Given the description of an element on the screen output the (x, y) to click on. 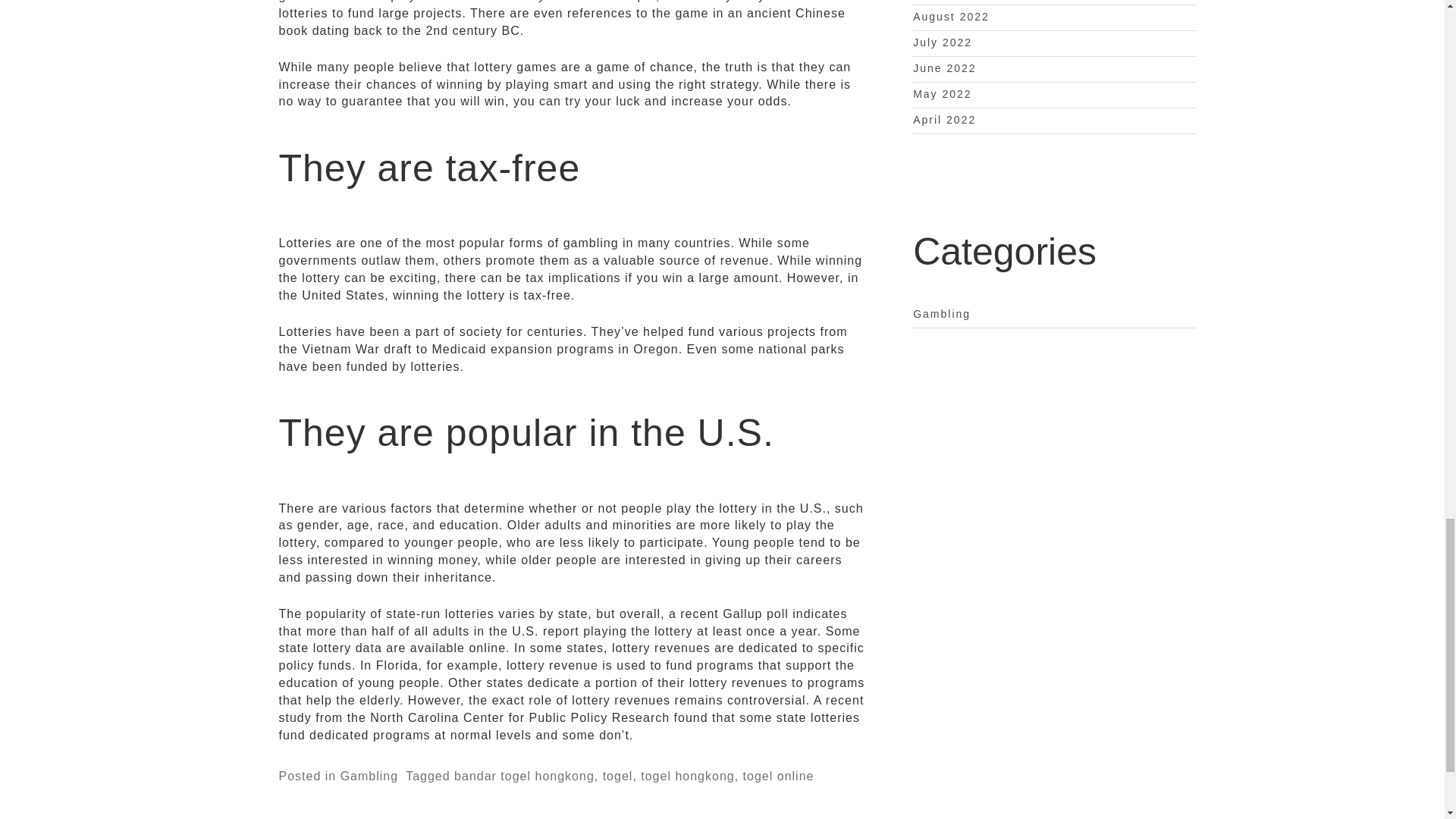
Gambling (368, 775)
togel hongkong (686, 775)
bandar togel hongkong (524, 775)
togel (617, 775)
togel online (777, 775)
